Given the description of an element on the screen output the (x, y) to click on. 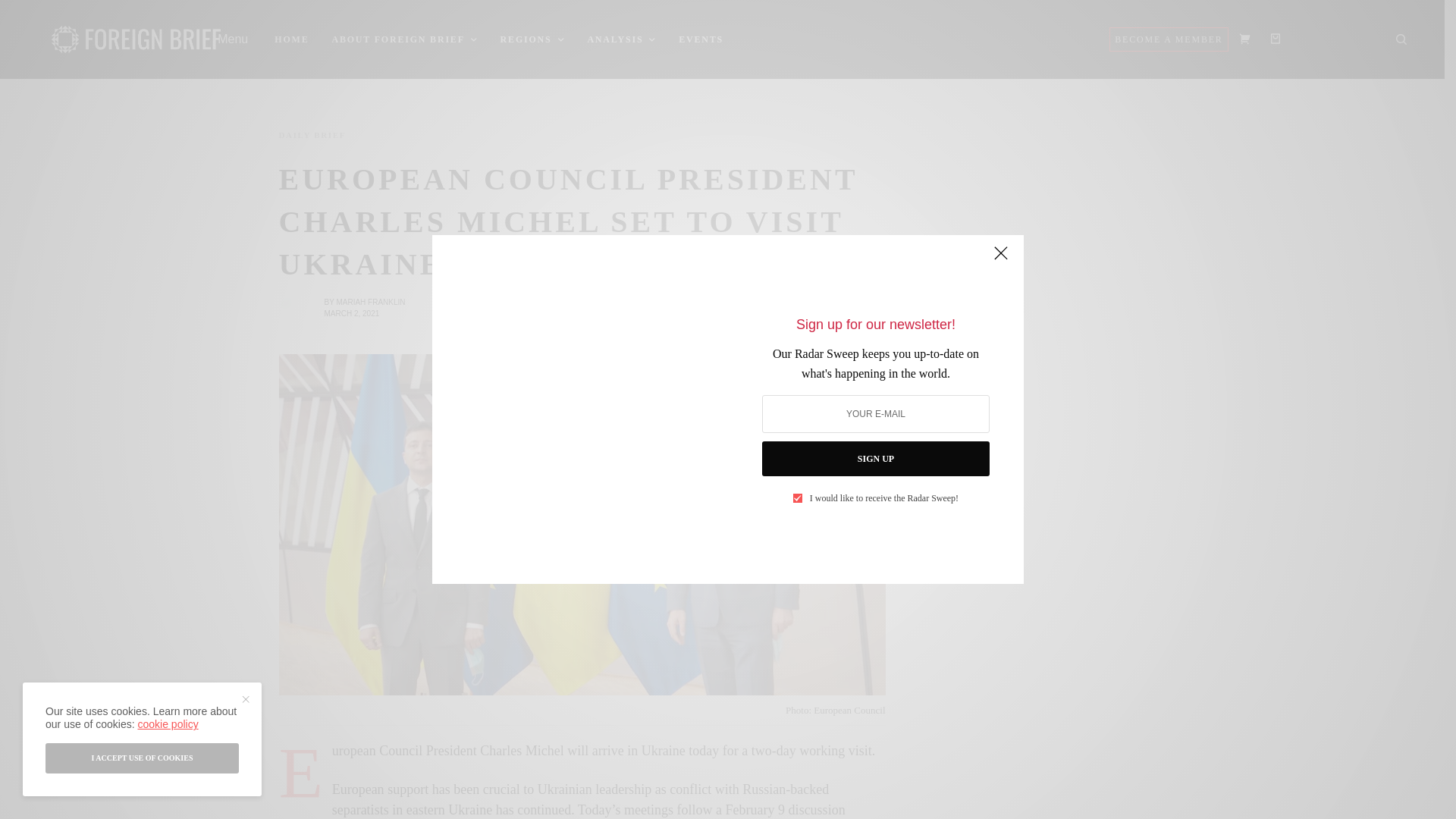
Foreign Brief (135, 39)
MARIAH FRANKLIN (370, 302)
BECOME A MEMBER (1168, 39)
ABOUT FOREIGN BRIEF (404, 39)
SIGN UP (875, 458)
Posts by Mariah Franklin (370, 302)
DAILY BRIEF (312, 135)
